Given the description of an element on the screen output the (x, y) to click on. 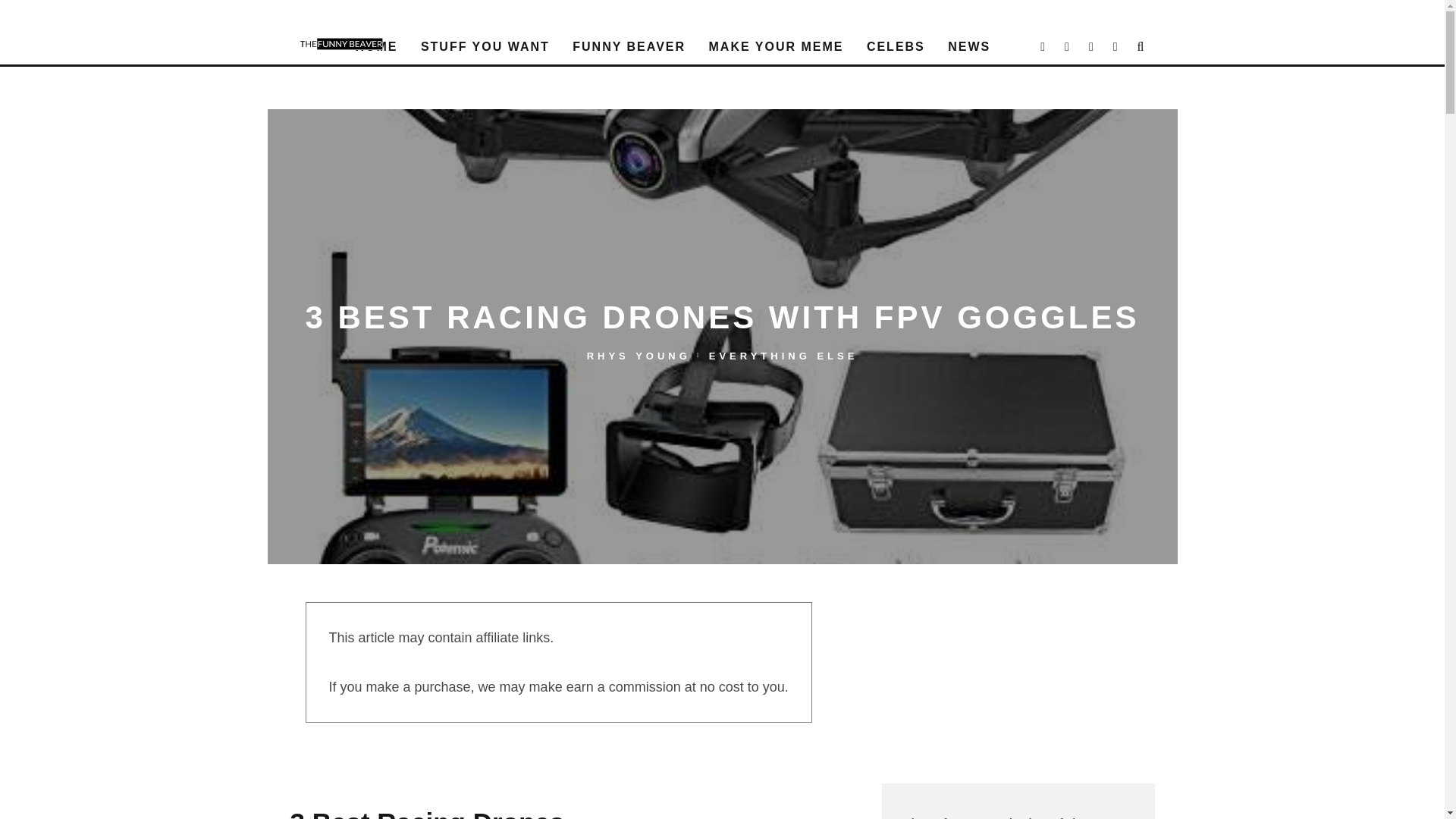
View all posts in Everything Else (784, 355)
